Given the description of an element on the screen output the (x, y) to click on. 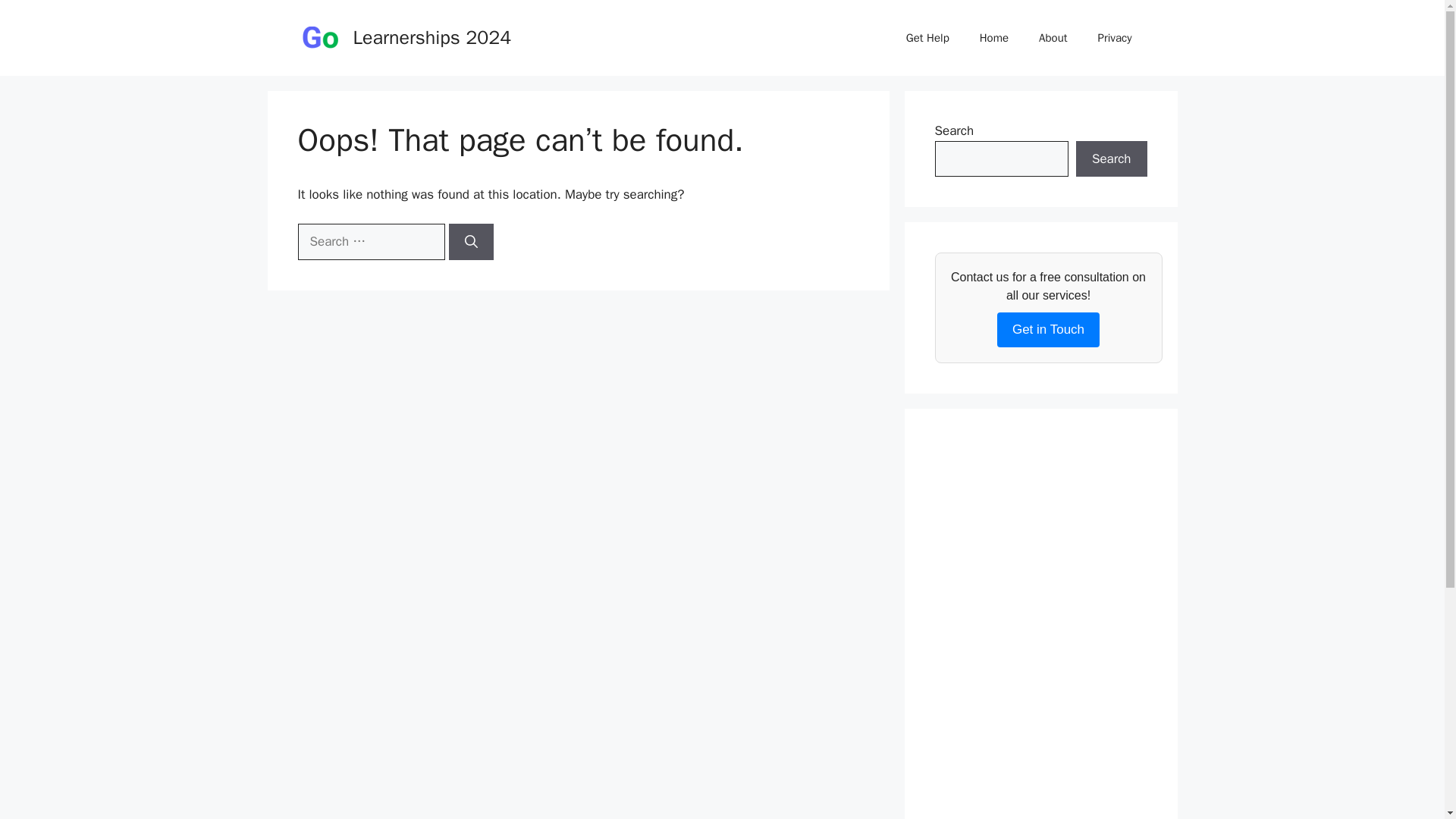
Search for: (370, 241)
Get Help (927, 37)
Search (1111, 158)
Learnerships 2024 (432, 37)
About (1052, 37)
Privacy (1115, 37)
Home (993, 37)
Get in Touch (1048, 329)
